Given the description of an element on the screen output the (x, y) to click on. 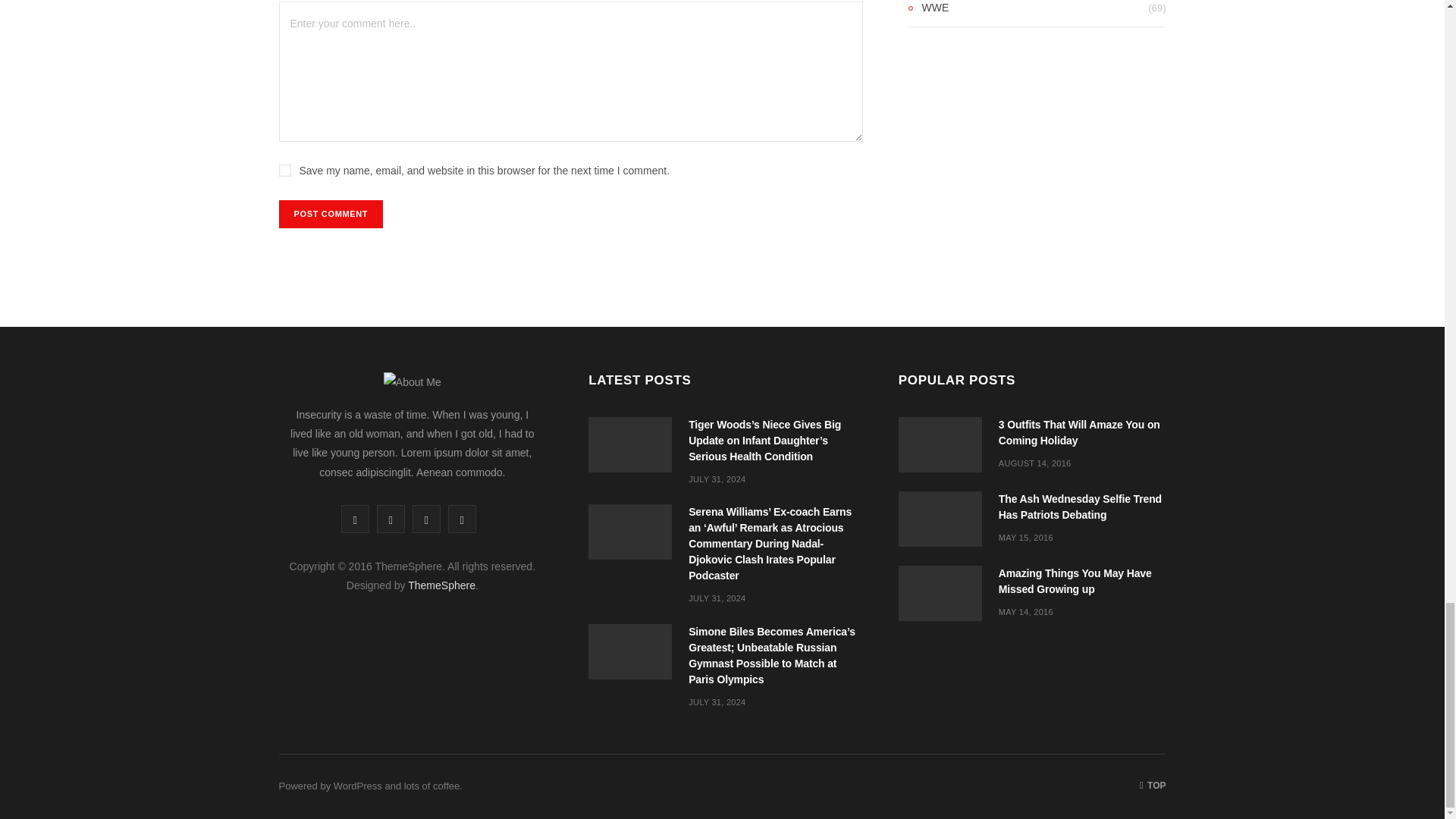
Post Comment (331, 213)
yes (285, 170)
